Given the description of an element on the screen output the (x, y) to click on. 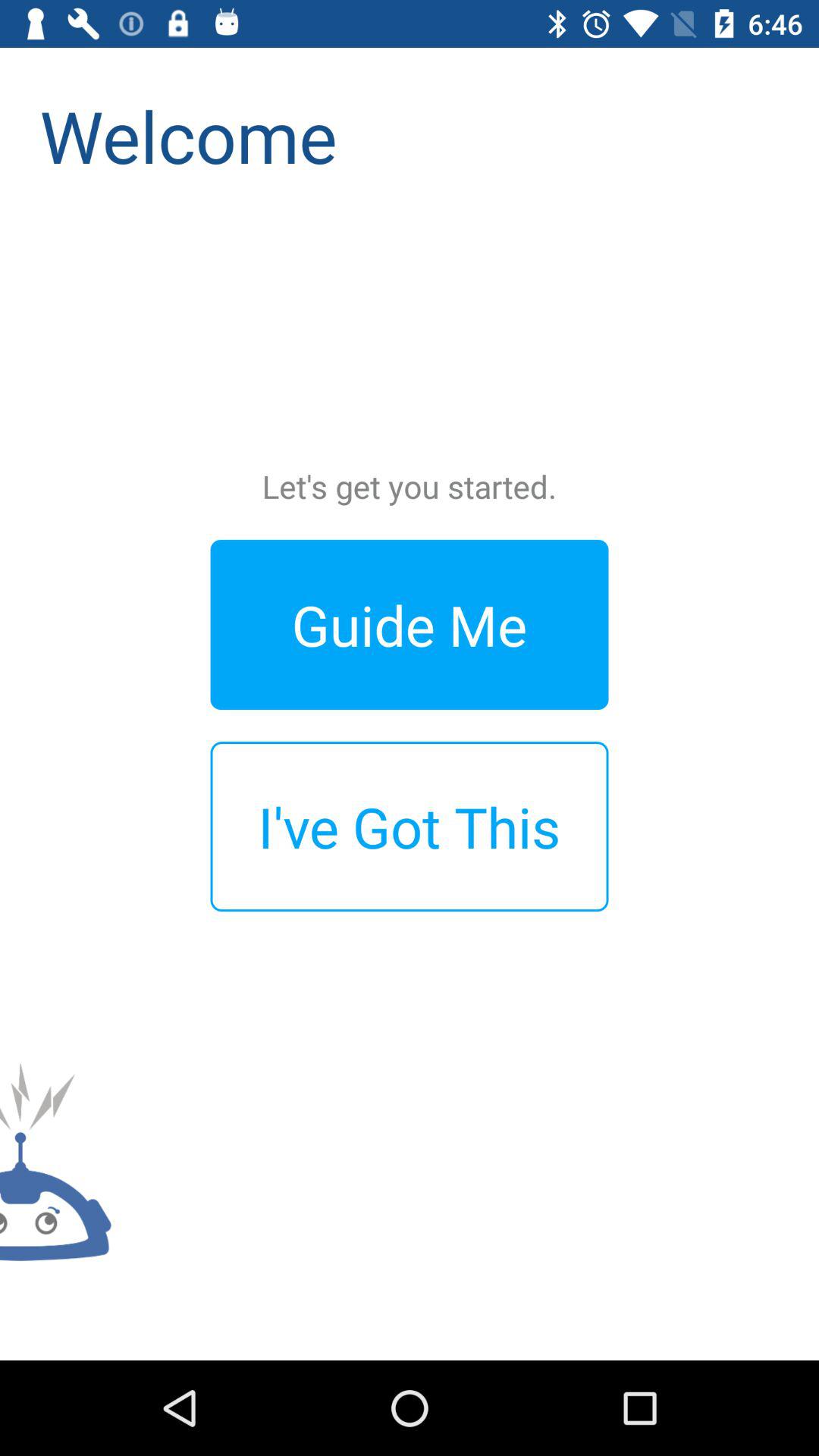
tap the i ve got button (409, 826)
